Given the description of an element on the screen output the (x, y) to click on. 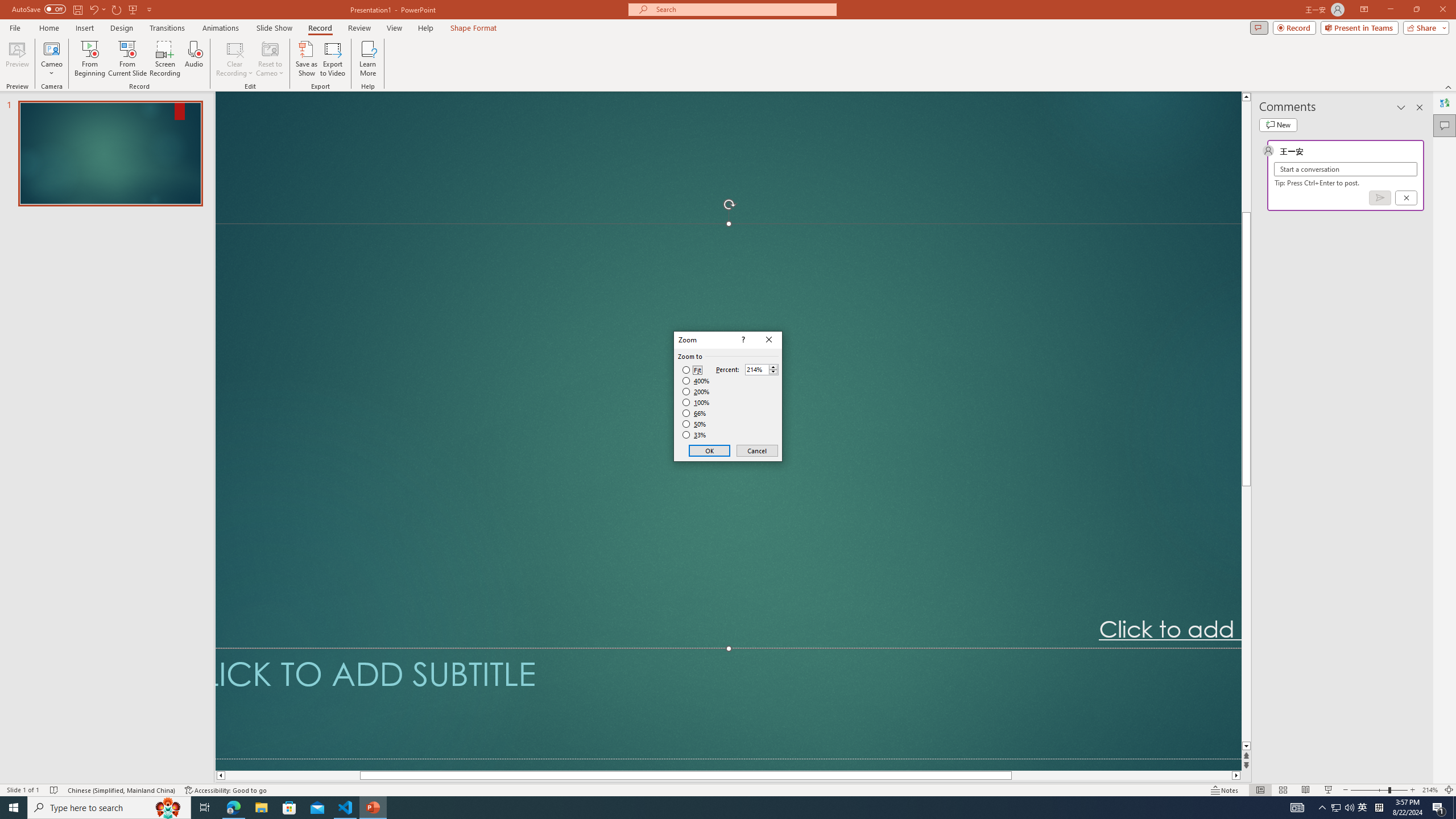
Learn More (368, 58)
Save as Show (306, 58)
Running applications (707, 807)
400% (696, 380)
200% (696, 391)
Zoom 214% (1430, 790)
